Given the description of an element on the screen output the (x, y) to click on. 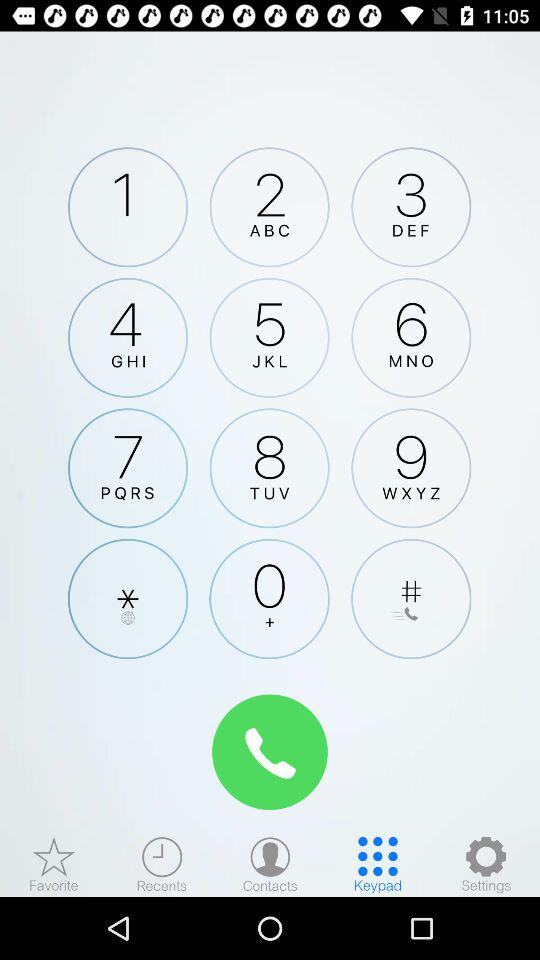
press two (269, 207)
